Given the description of an element on the screen output the (x, y) to click on. 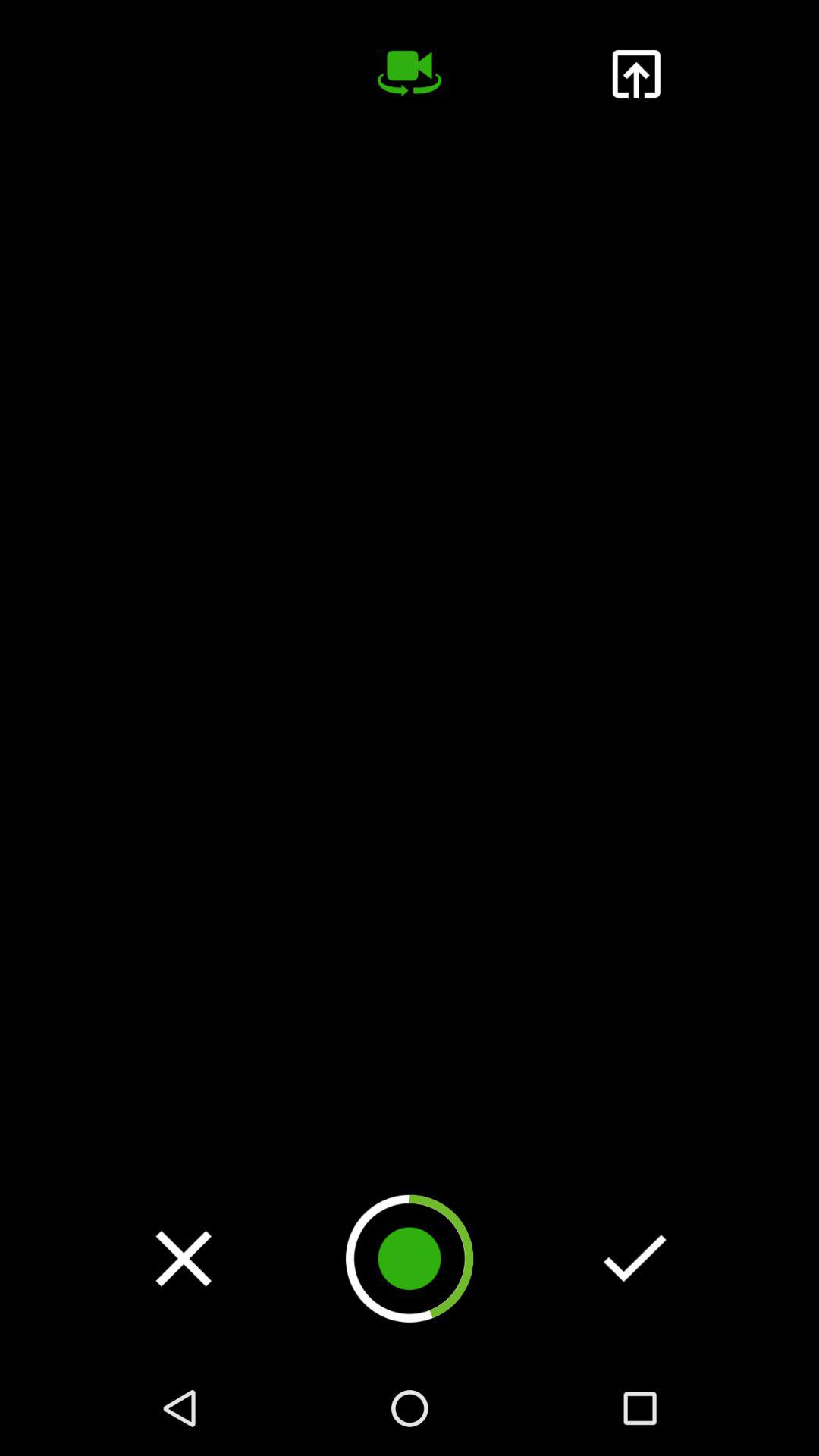
close video (183, 1258)
